Given the description of an element on the screen output the (x, y) to click on. 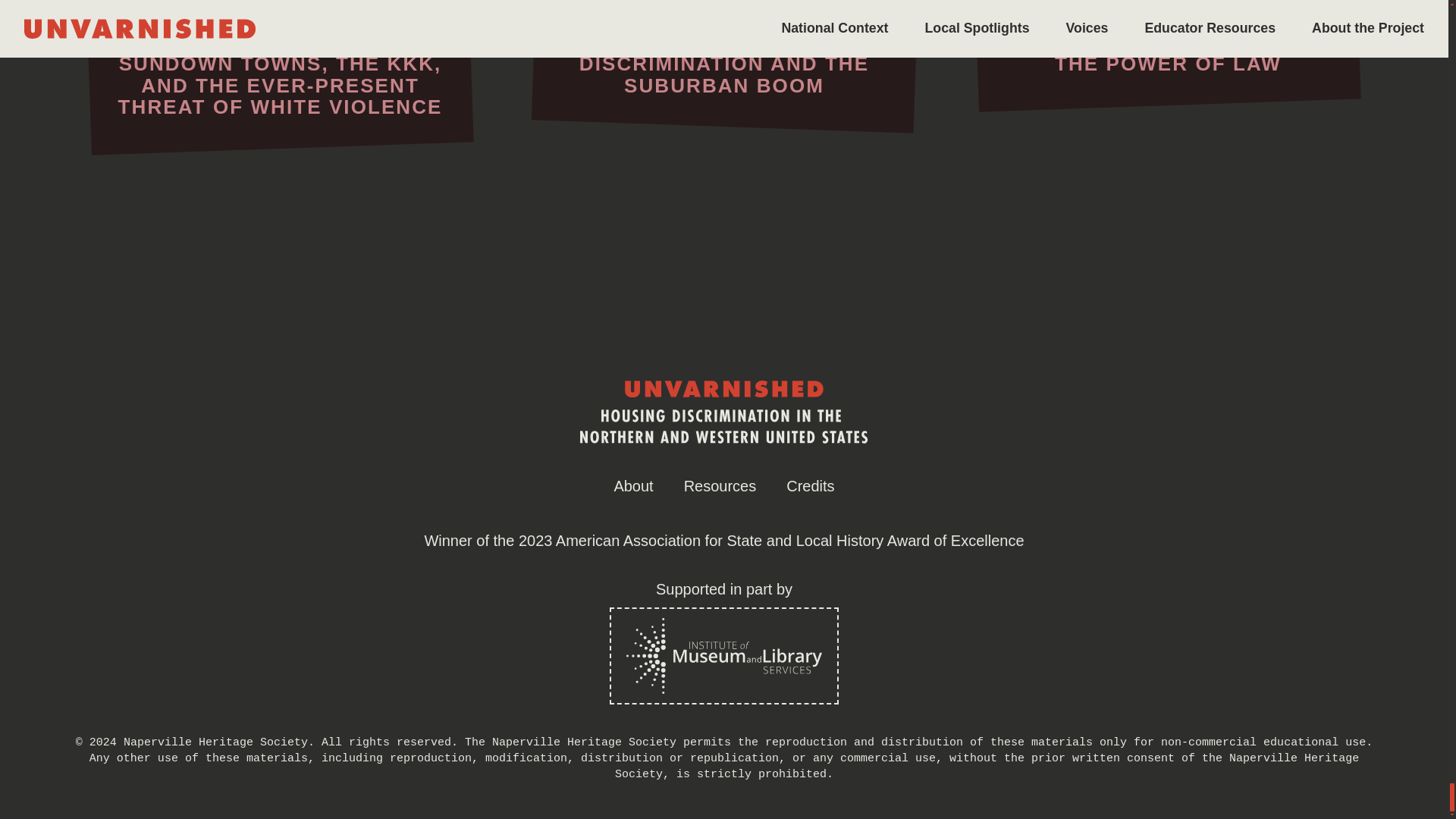
Resources (720, 485)
About (632, 485)
Credits (810, 485)
DISCRIMINATION AND THE SUBURBAN BOOM (724, 63)
THE POWER OF LAW (1168, 52)
